Given the description of an element on the screen output the (x, y) to click on. 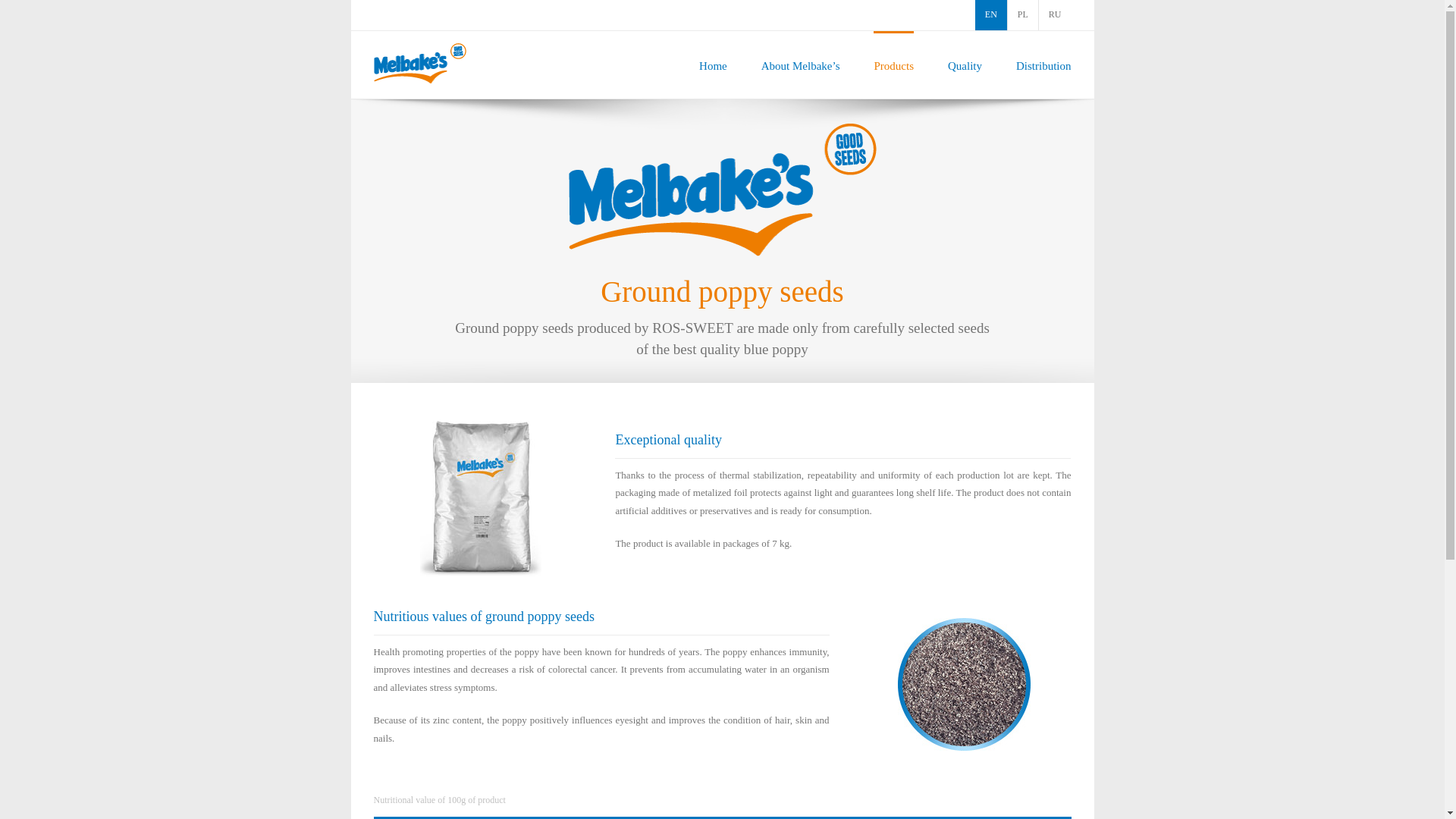
PL (1022, 15)
EN (991, 15)
RU (1055, 15)
